Given the description of an element on the screen output the (x, y) to click on. 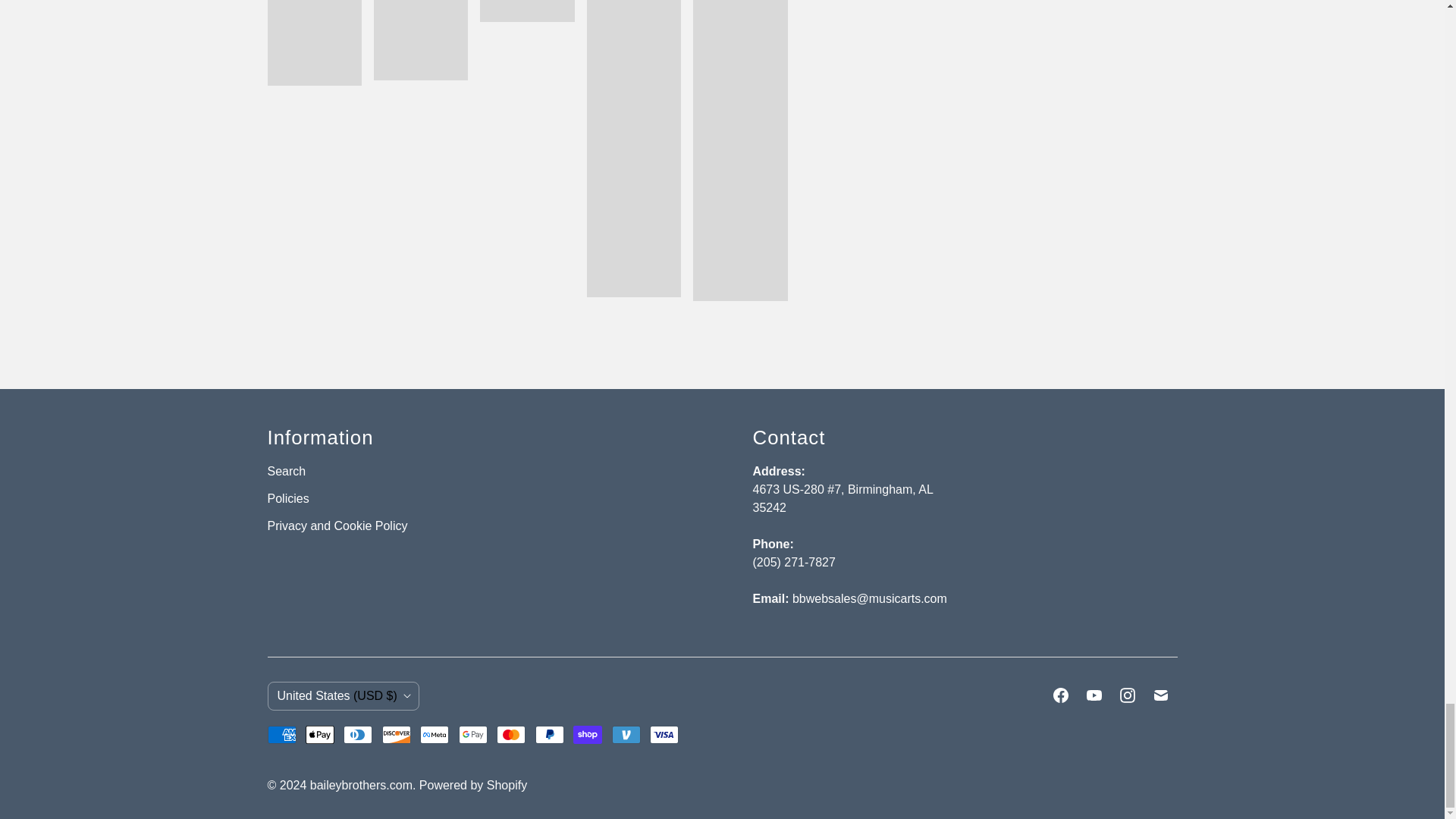
PayPal (549, 734)
Visa (663, 734)
Discover (395, 734)
Shop Pay (587, 734)
Diners Club (357, 734)
Google Pay (472, 734)
Meta Pay (434, 734)
Mastercard (510, 734)
Venmo (625, 734)
Apple Pay (319, 734)
American Express (280, 734)
